Given the description of an element on the screen output the (x, y) to click on. 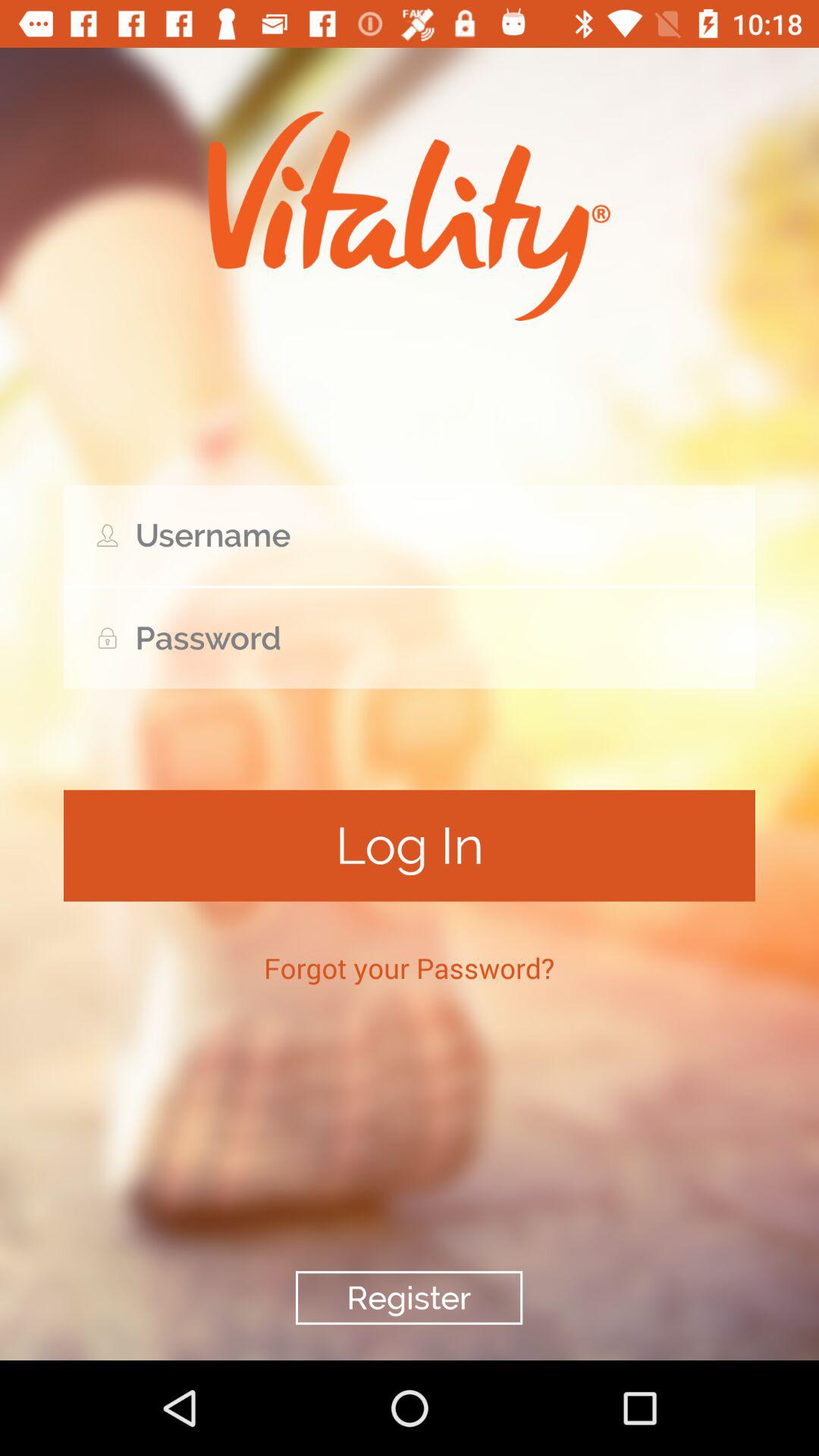
press the icon above the forgot your password? item (409, 845)
